Given the description of an element on the screen output the (x, y) to click on. 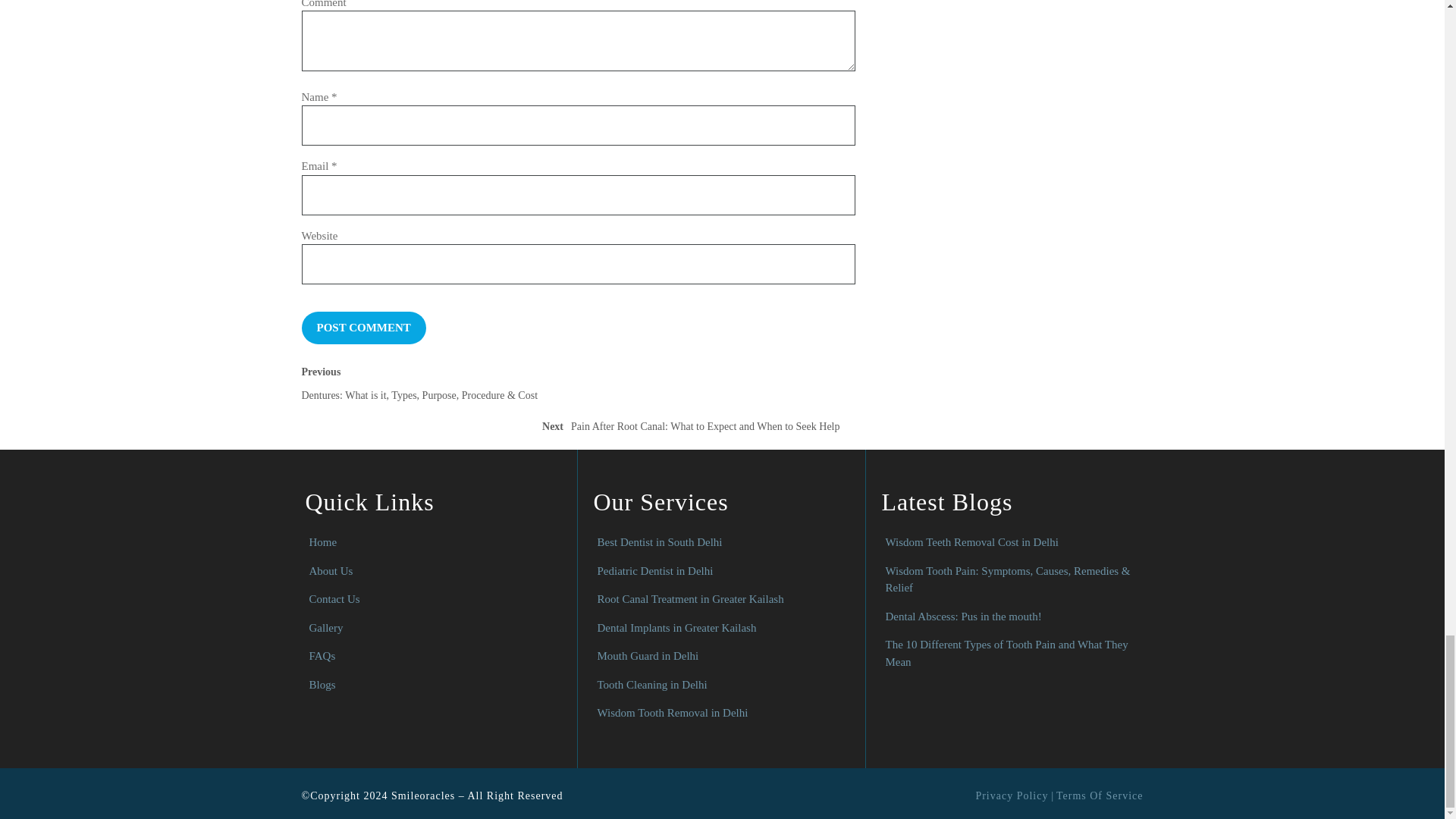
Post Comment (363, 327)
